Given the description of an element on the screen output the (x, y) to click on. 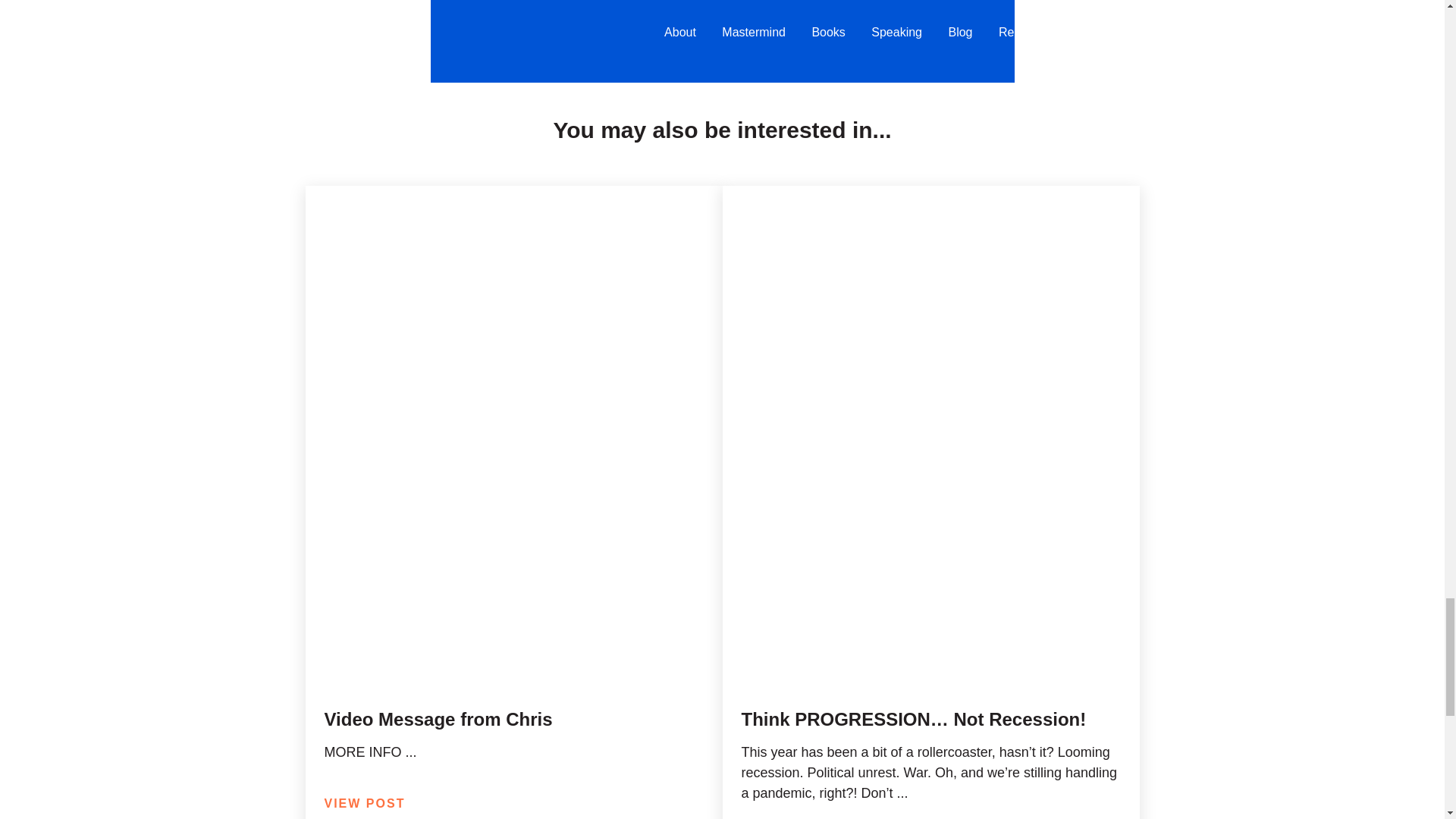
VIEW POST (365, 802)
Video Message from Chris (438, 719)
